Given the description of an element on the screen output the (x, y) to click on. 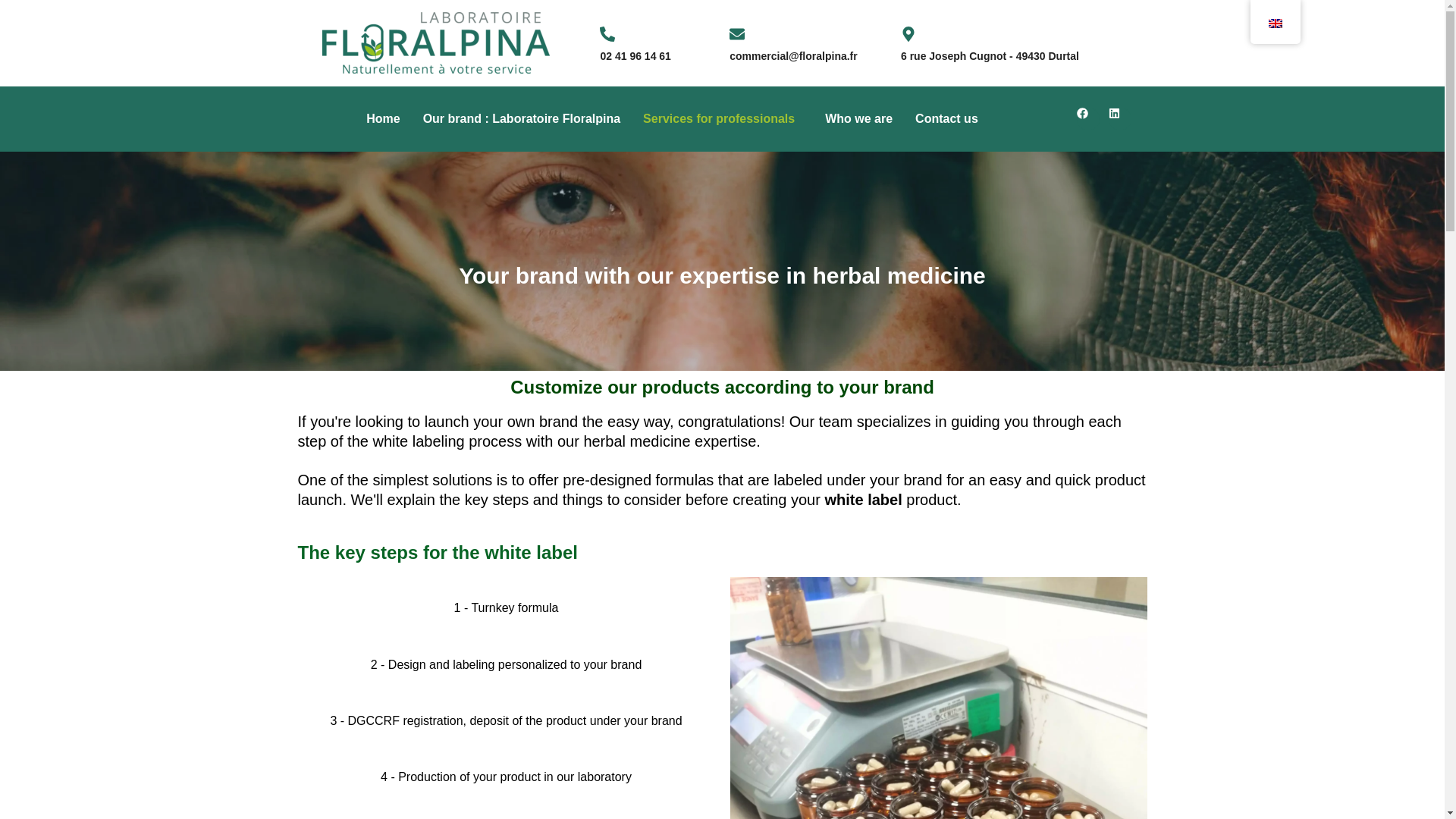
Our brand : Laboratoire Floralpina (521, 118)
Services for professionals (722, 118)
Who we are (858, 118)
Home (382, 118)
Contact us (947, 118)
Home (382, 118)
